Given the description of an element on the screen output the (x, y) to click on. 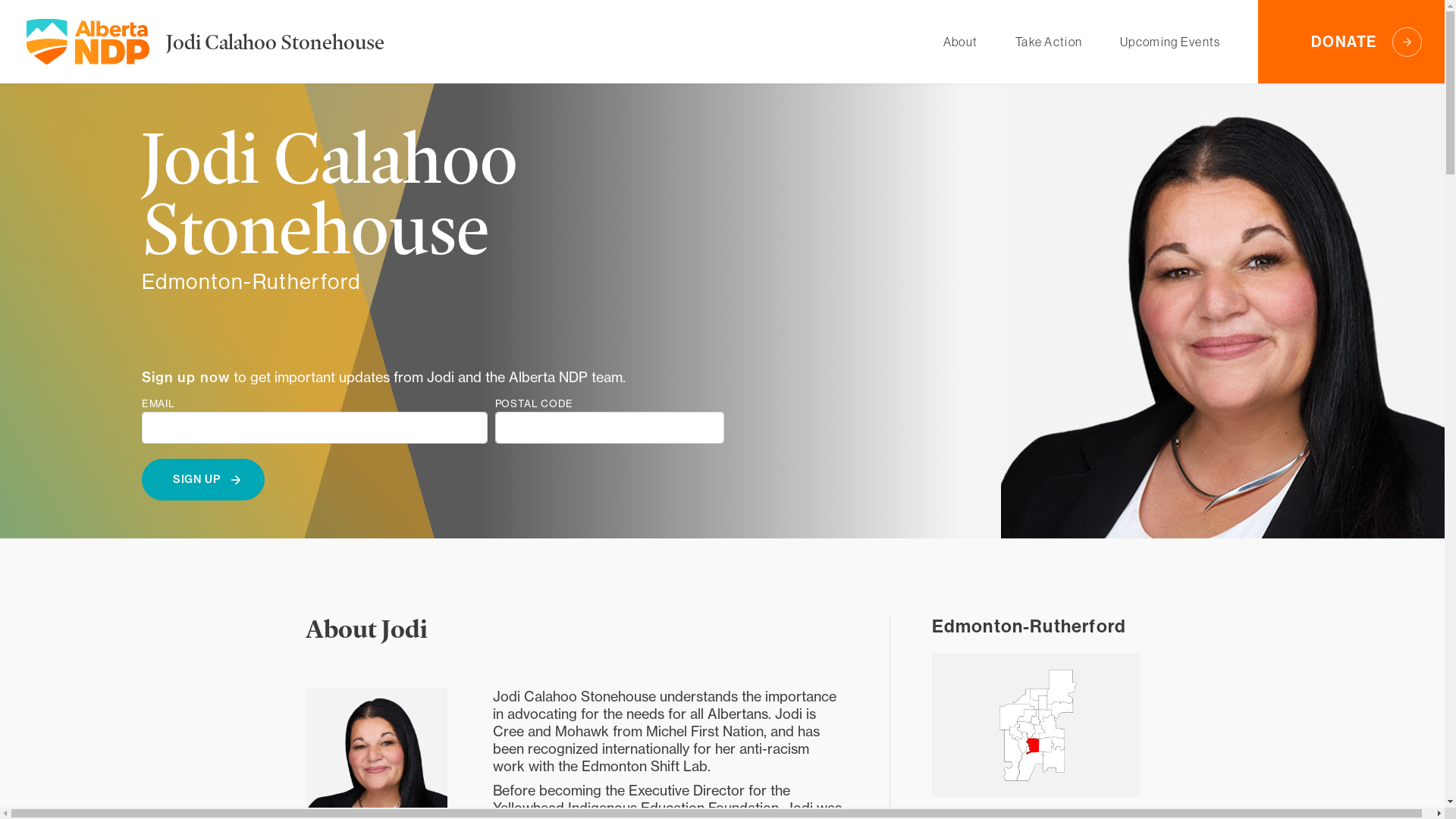
About Element type: text (960, 41)
DONATE Element type: text (1351, 41)
Upcoming Events Element type: text (1170, 41)
SIGN UP Element type: text (202, 479)
Take Action Element type: text (1048, 41)
Jodi Calahoo Stonehouse Element type: text (275, 41)
